Given the description of an element on the screen output the (x, y) to click on. 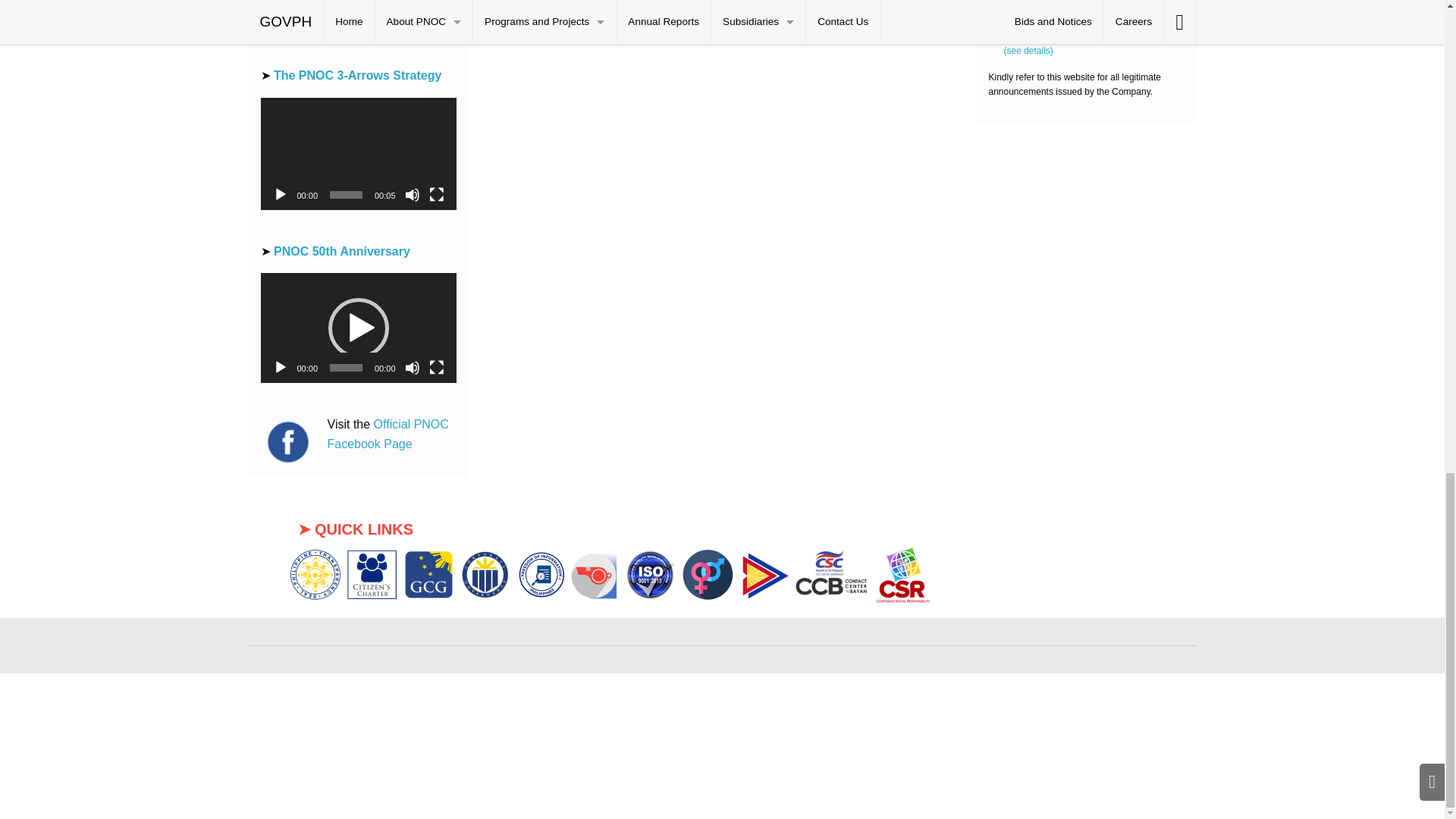
Mute (412, 18)
Play (280, 18)
Fullscreen (436, 18)
